Given the description of an element on the screen output the (x, y) to click on. 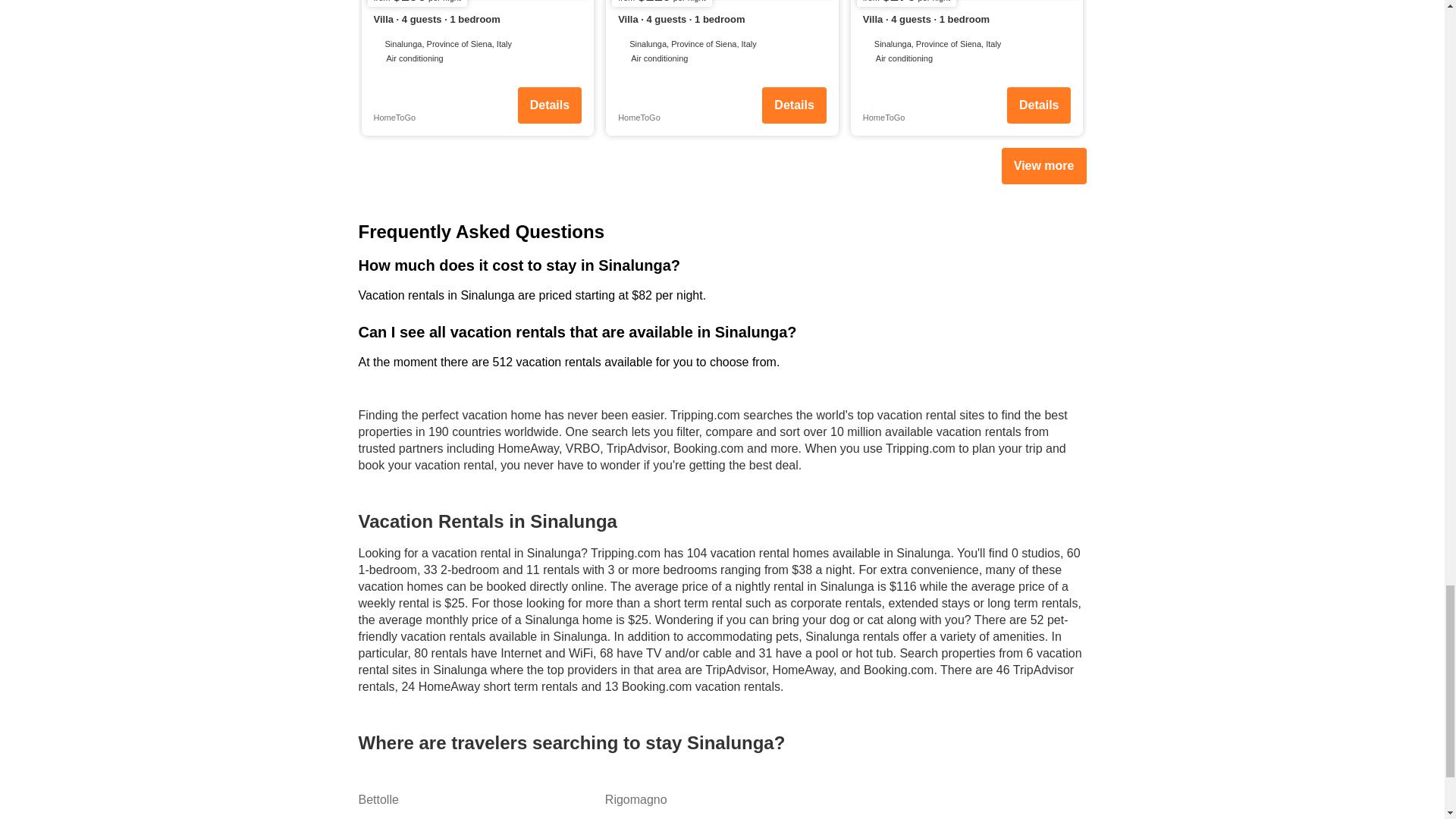
Bettolle (475, 798)
Bettolle (475, 798)
Rigomagno (722, 798)
Rigomagno (722, 798)
